Given the description of an element on the screen output the (x, y) to click on. 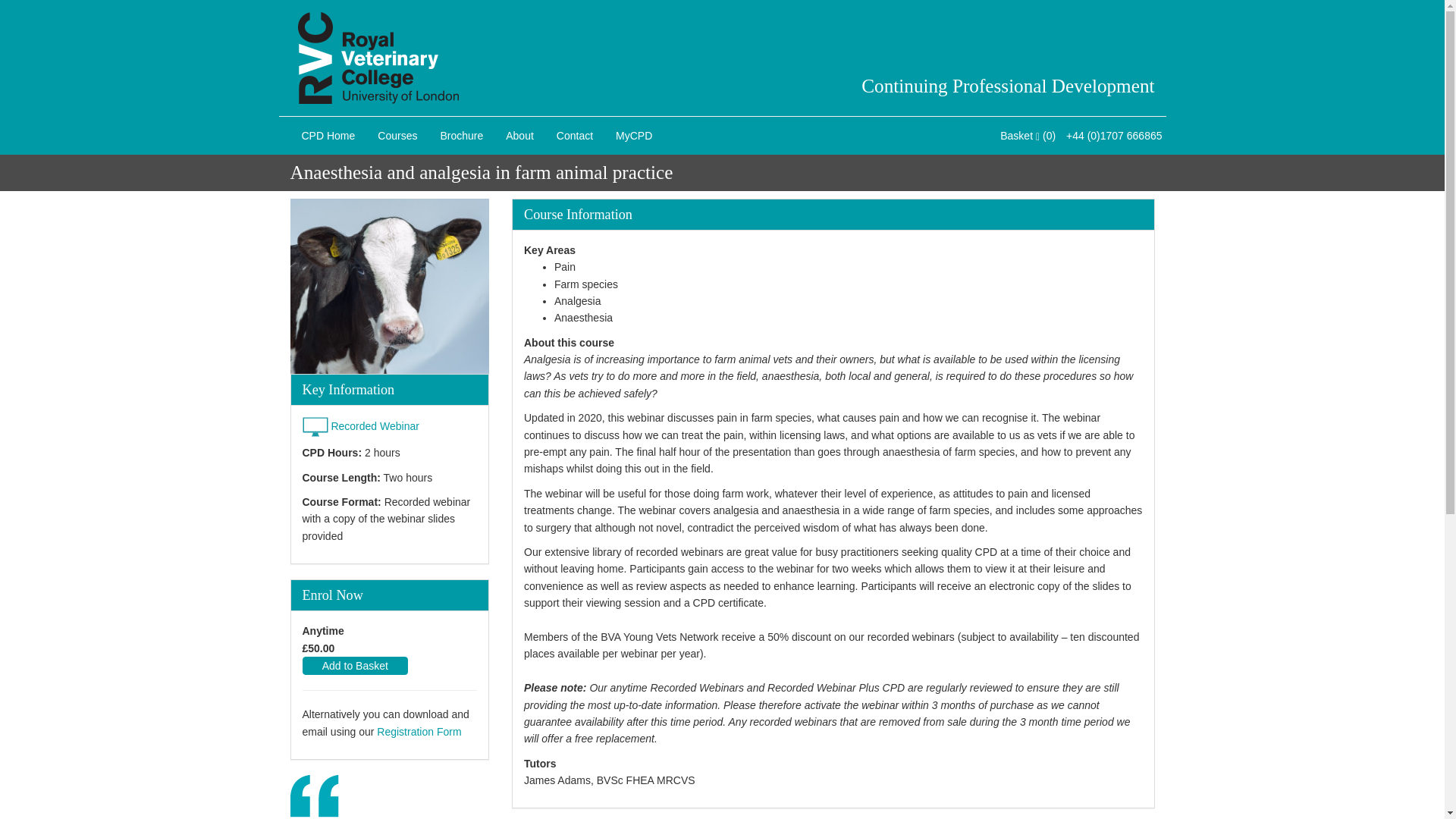
CPD Home (327, 135)
Recorded Webinar (374, 426)
Courses (397, 135)
On Site Course (314, 426)
MyCPD (633, 135)
About (519, 135)
Brochure (461, 135)
Add to Basket (354, 665)
Registration Form (419, 731)
Shopping Basket (1027, 135)
Continuing Professional Development (1007, 86)
Contact (574, 135)
